Given the description of an element on the screen output the (x, y) to click on. 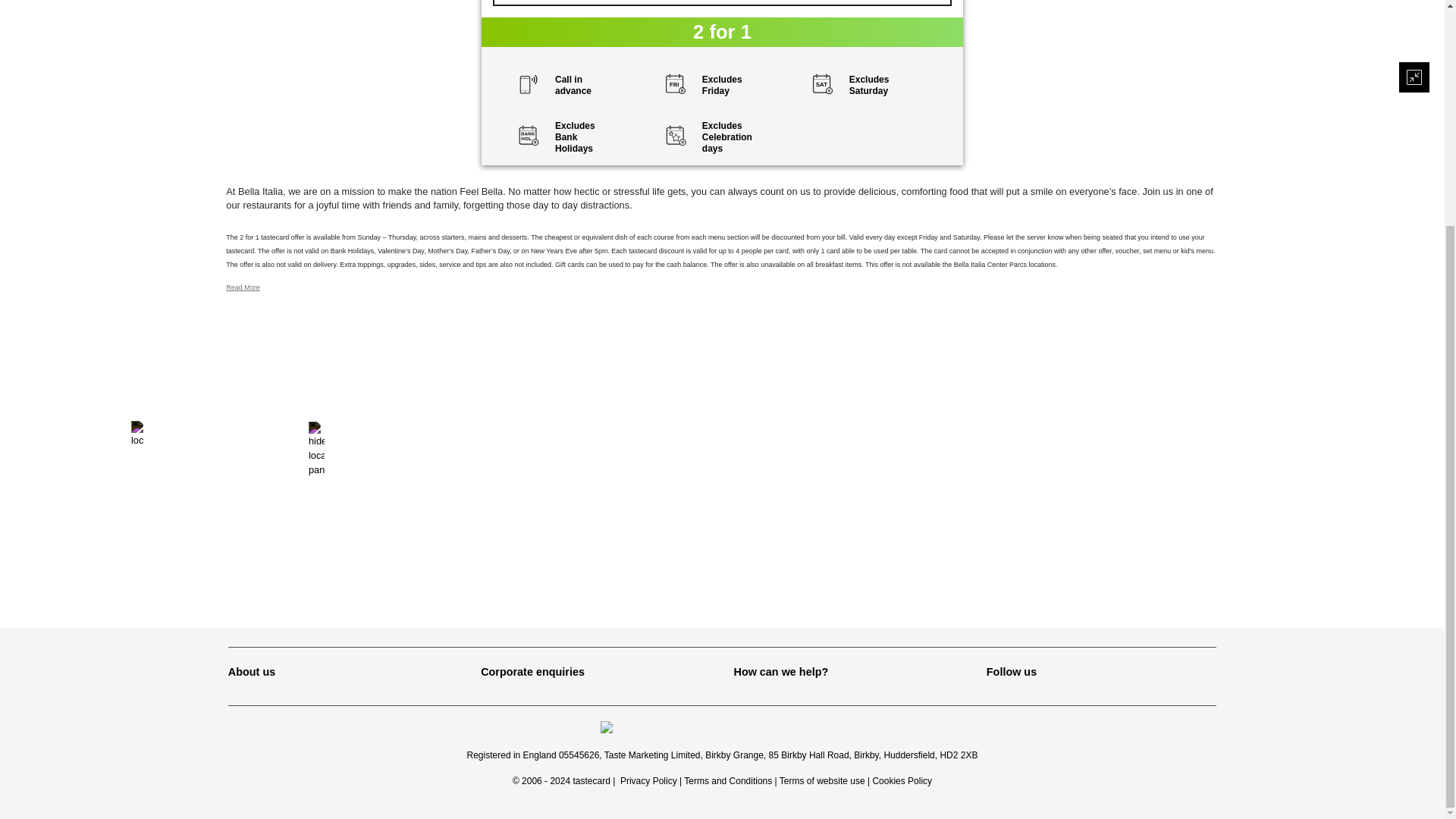
Privacy policy (648, 780)
DIRECTIONS (722, 2)
